Given the description of an element on the screen output the (x, y) to click on. 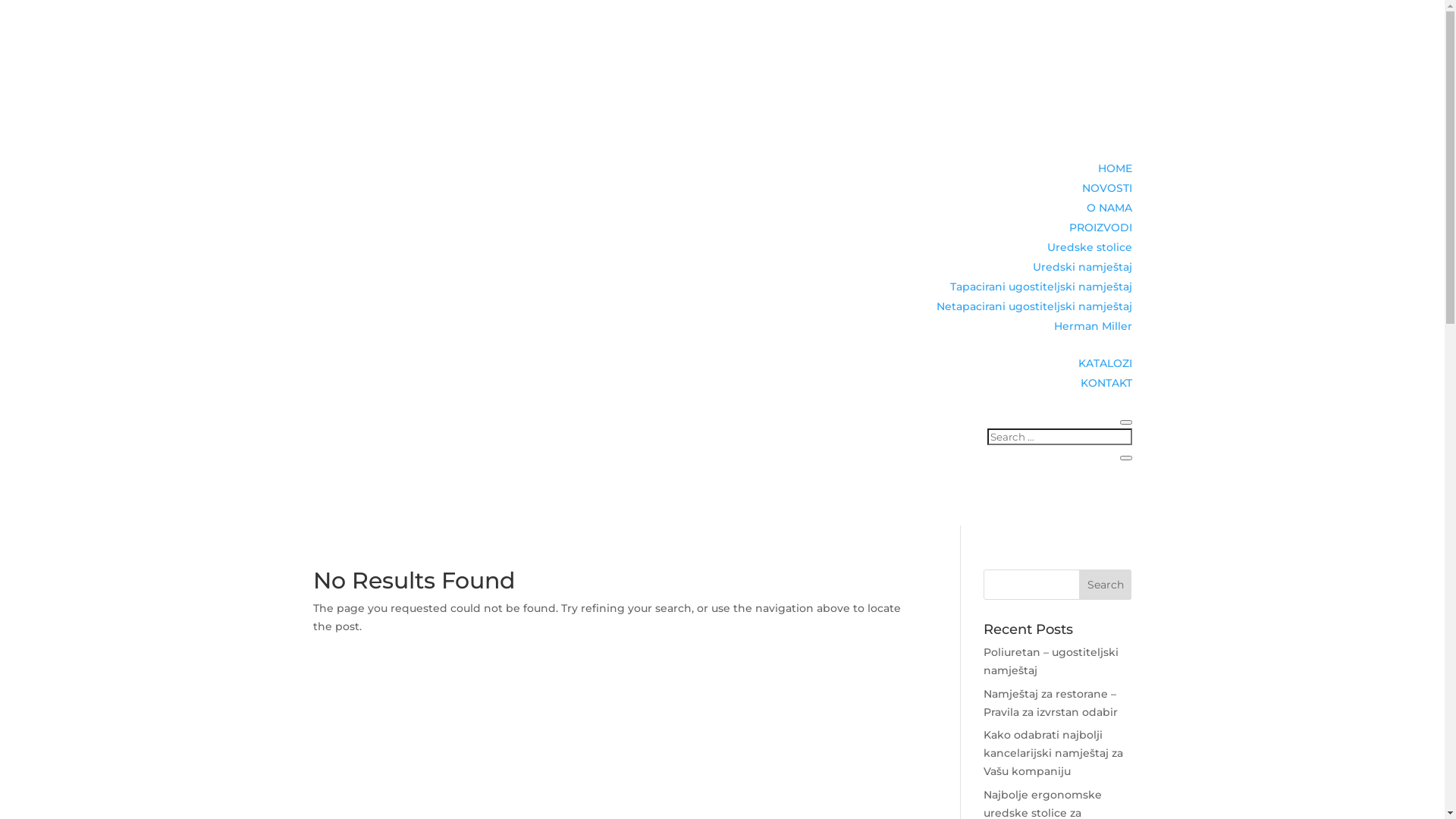
NOVOSTI Element type: text (1106, 187)
KATALOZI Element type: text (1105, 363)
Search Element type: text (1105, 584)
Herman Miller Element type: text (1093, 325)
HOME Element type: text (1115, 168)
Search for: Element type: hover (1059, 436)
Uredske stolice Element type: text (1088, 247)
KONTAKT Element type: text (1105, 382)
PROIZVODI Element type: text (1100, 227)
O NAMA Element type: text (1108, 207)
